Given the description of an element on the screen output the (x, y) to click on. 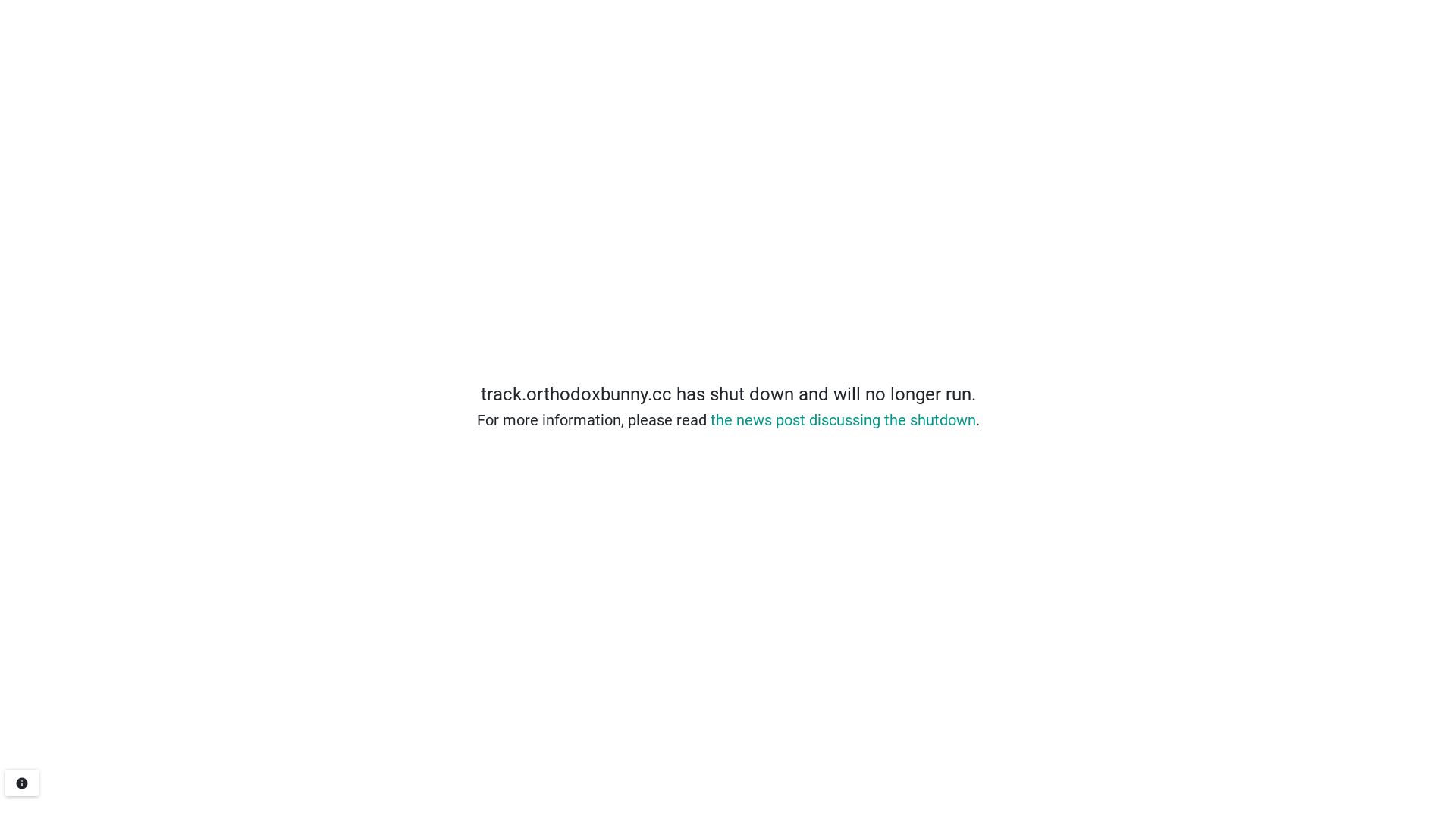
the news post discussing the shutdown Element type: text (842, 420)
